Given the description of an element on the screen output the (x, y) to click on. 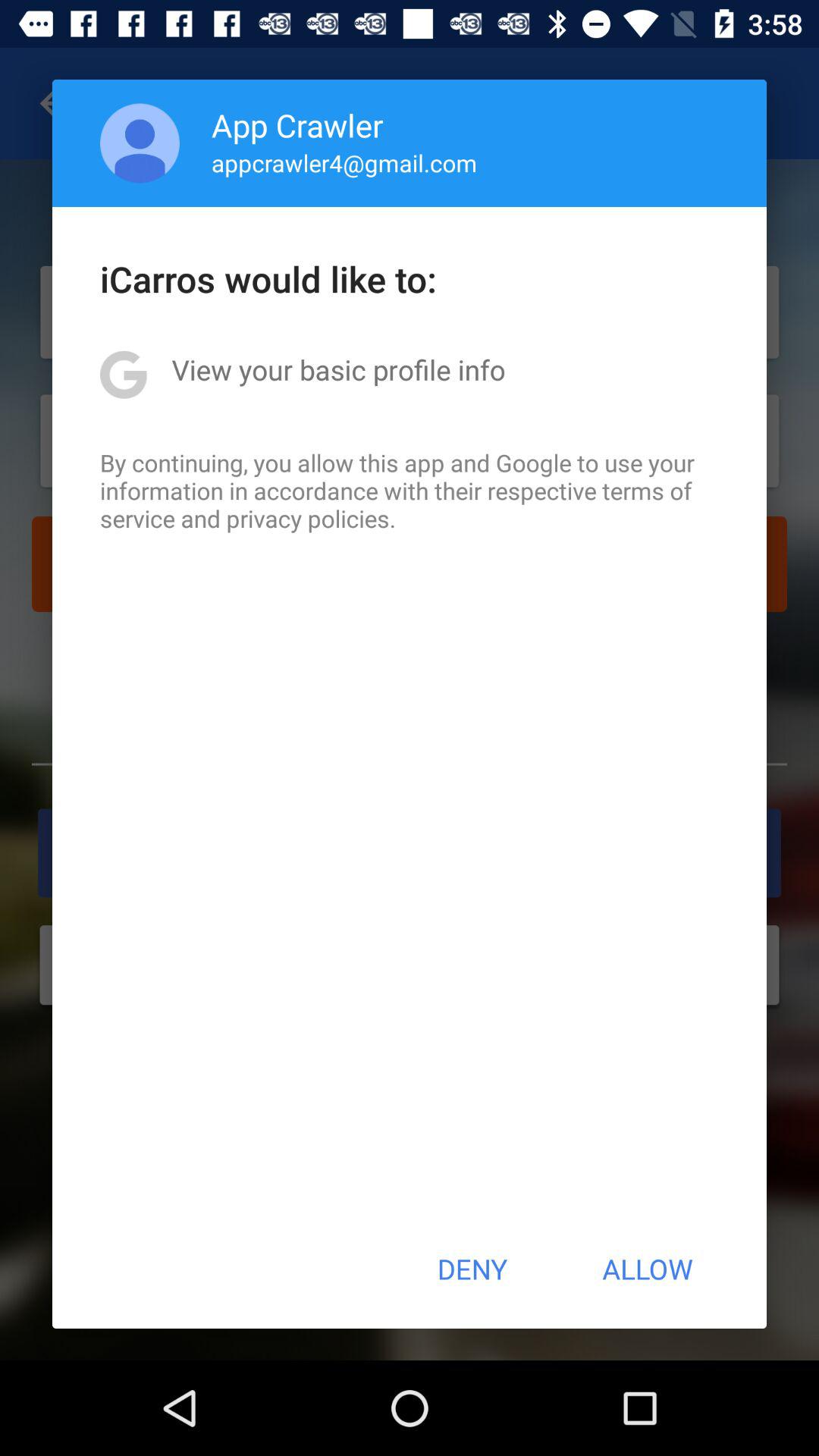
open the item above appcrawler4@gmail.com app (297, 124)
